Given the description of an element on the screen output the (x, y) to click on. 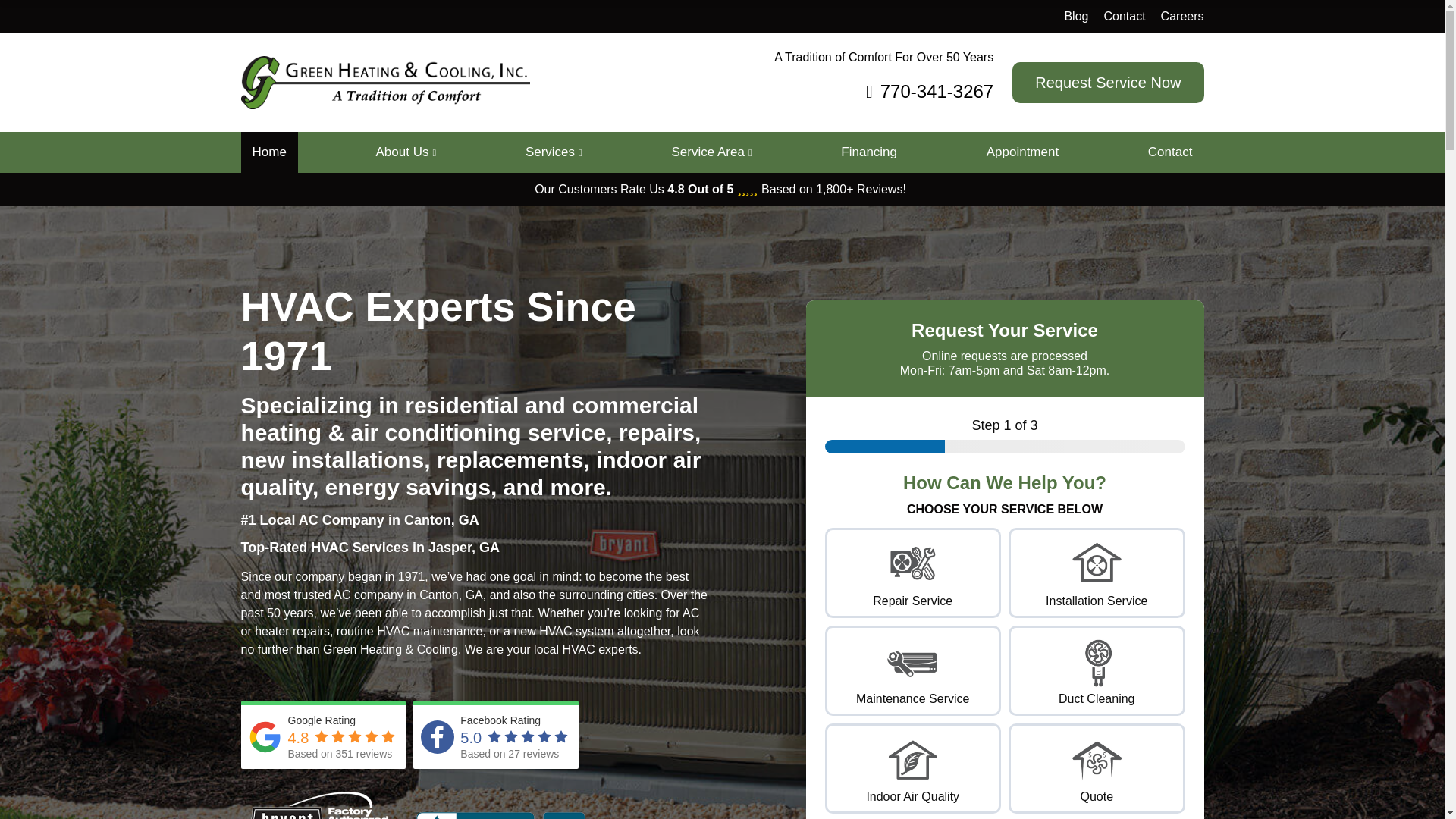
Duct Cleaning (1103, 678)
Repair Service (912, 563)
Quote (1103, 776)
Contact (1123, 15)
Blog (1075, 15)
Maintenance Service (912, 661)
Quote (1096, 759)
Maintenance Service (920, 678)
770-341-3267 (883, 91)
Installation Service (1103, 580)
Indoor Air Quality (912, 759)
Careers (1182, 15)
Request Service Now (1107, 82)
Repair Service (920, 580)
Installation Service (1096, 563)
